Given the description of an element on the screen output the (x, y) to click on. 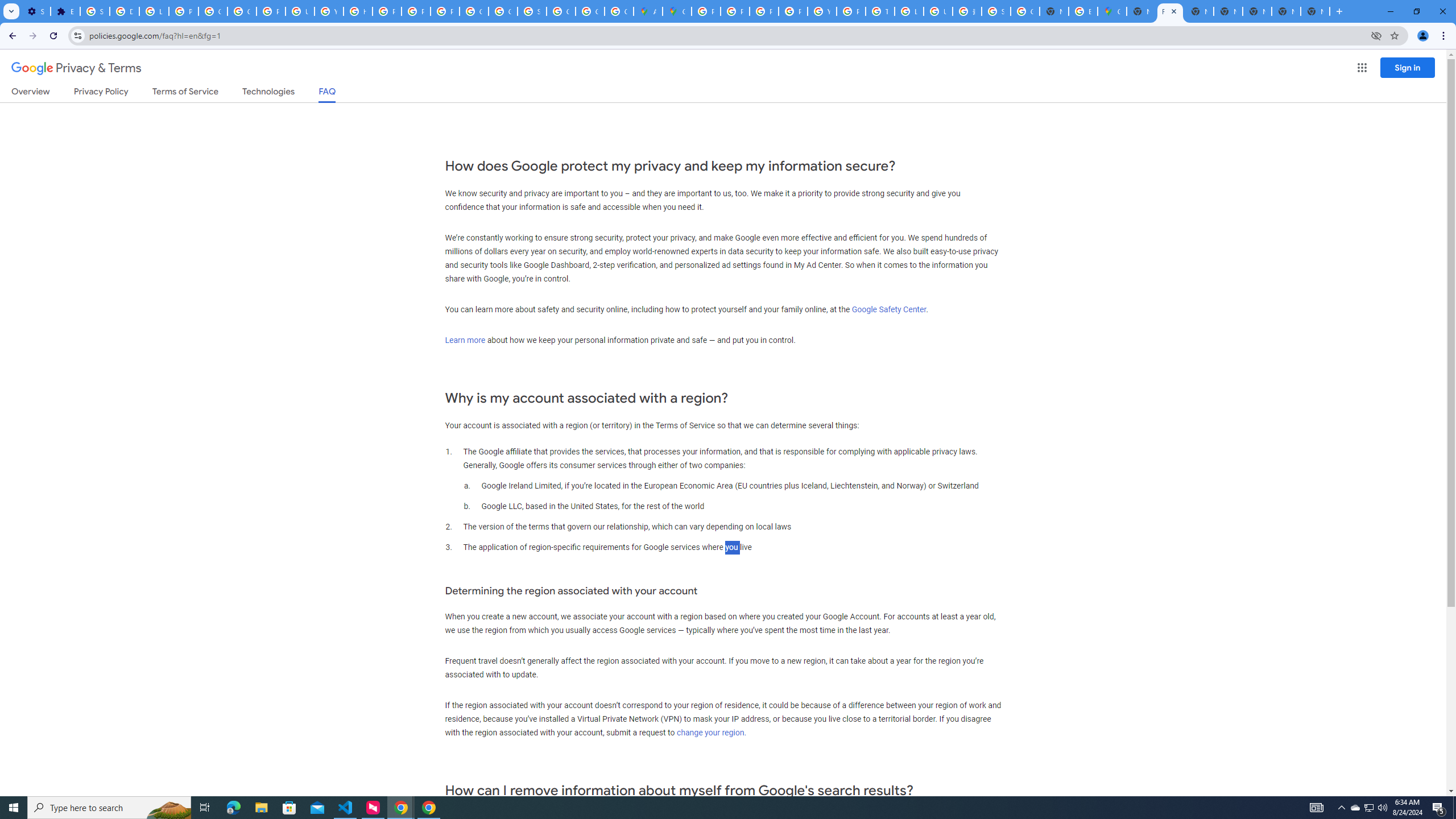
New Tab (1315, 11)
Sign in - Google Accounts (95, 11)
Google Maps (677, 11)
change your region. (710, 732)
https://scholar.google.com/ (357, 11)
